Given the description of an element on the screen output the (x, y) to click on. 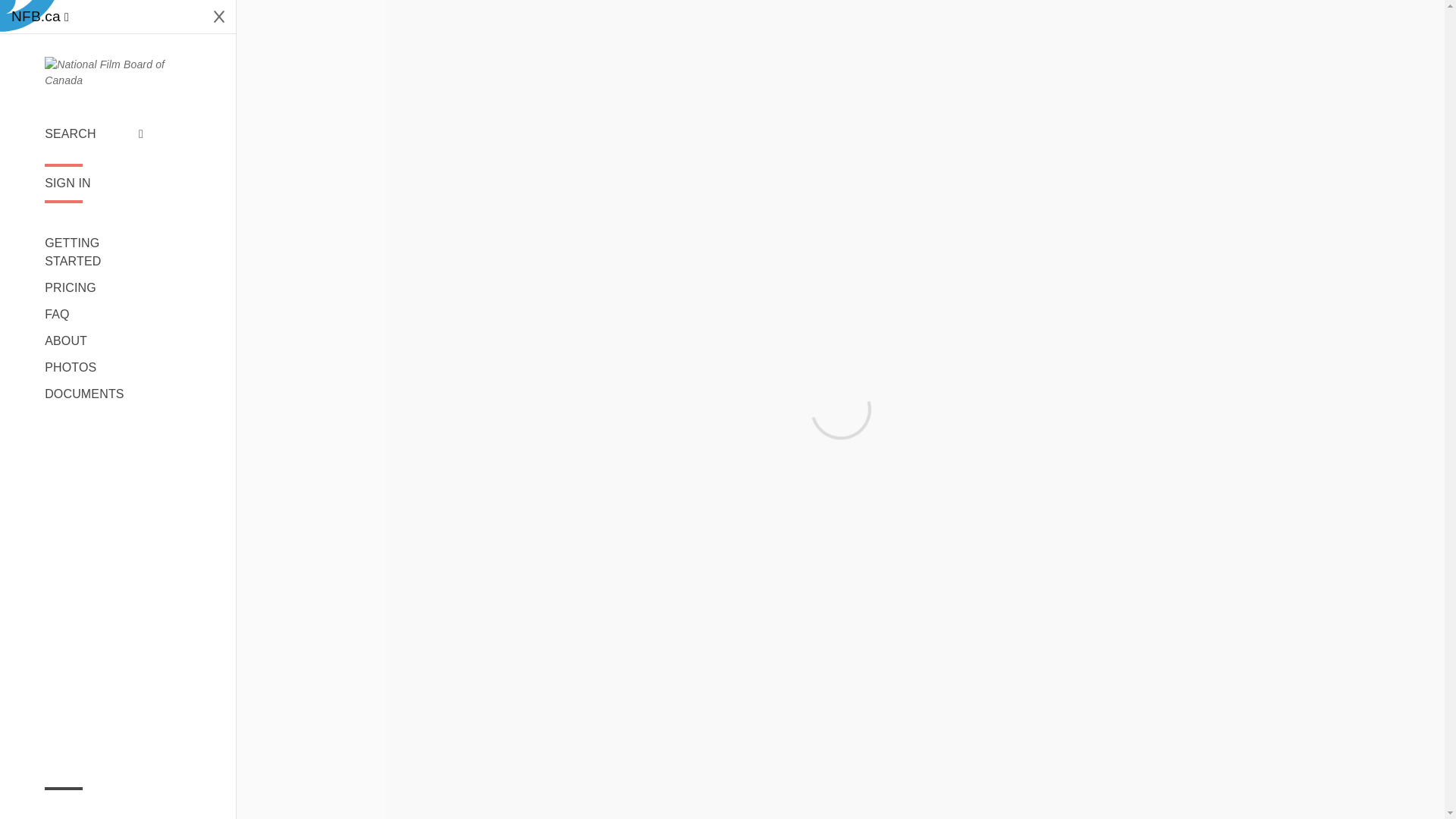
NFB.ca (39, 16)
PRICING (93, 288)
GETTING STARTED (93, 252)
FAQ (93, 314)
Watch films on NFB.ca (39, 16)
PHOTOS (93, 367)
DOCUMENTS (93, 393)
ABOUT (93, 341)
SIGN IN (93, 183)
National Film Board of Canada (117, 72)
SEARCH (93, 134)
